Given the description of an element on the screen output the (x, y) to click on. 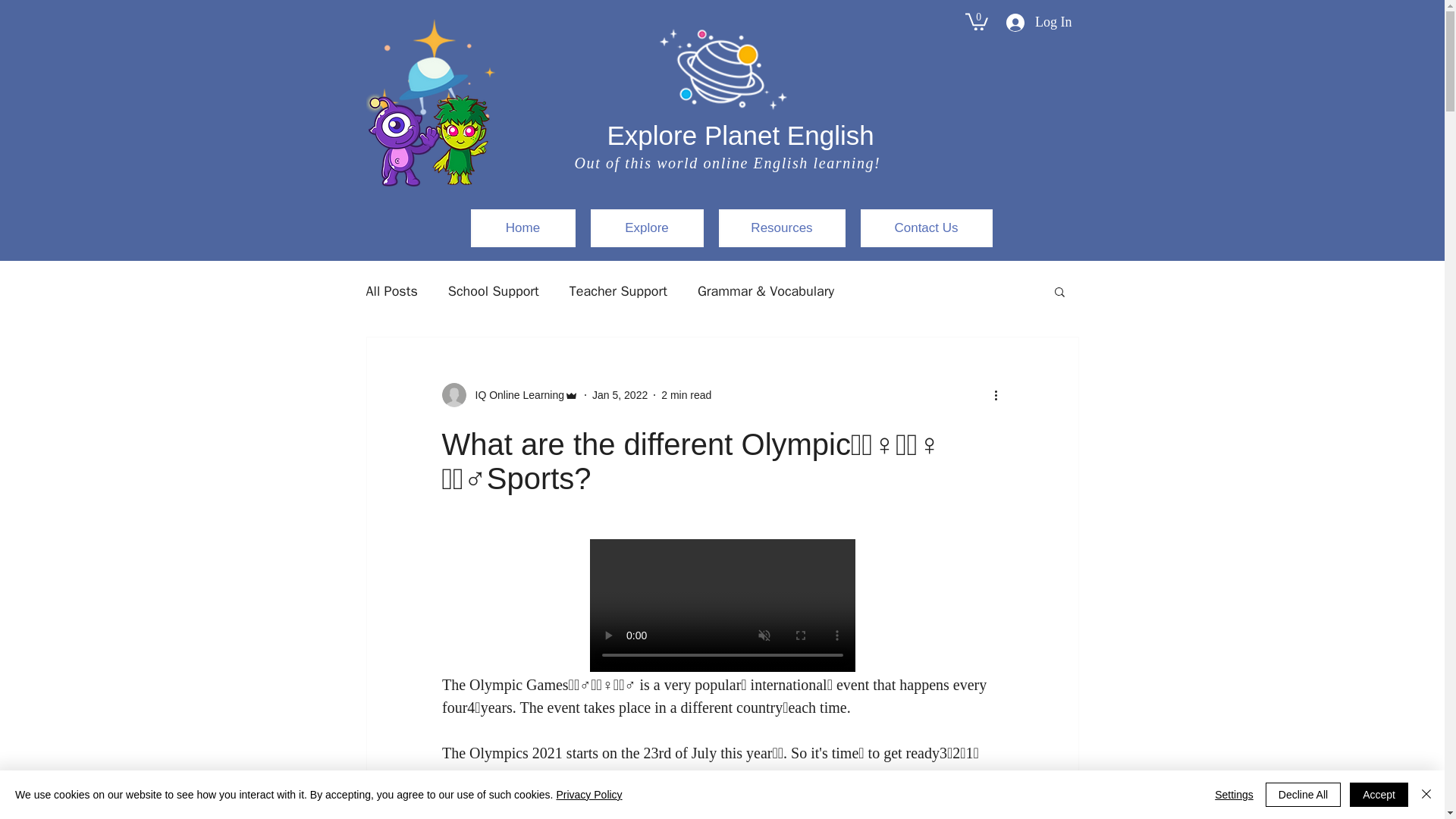
Contact Us (925, 228)
Purple Alien  (410, 139)
Explore (646, 228)
Resources (782, 228)
IQ Online Learning (514, 394)
Teacher Support (617, 290)
0 (975, 20)
Jan 5, 2022 (619, 394)
0 (975, 20)
All Posts (390, 290)
Home (522, 228)
Log In (1039, 22)
School Support (493, 290)
2 min read (686, 394)
IQ Online Learning (509, 395)
